Given the description of an element on the screen output the (x, y) to click on. 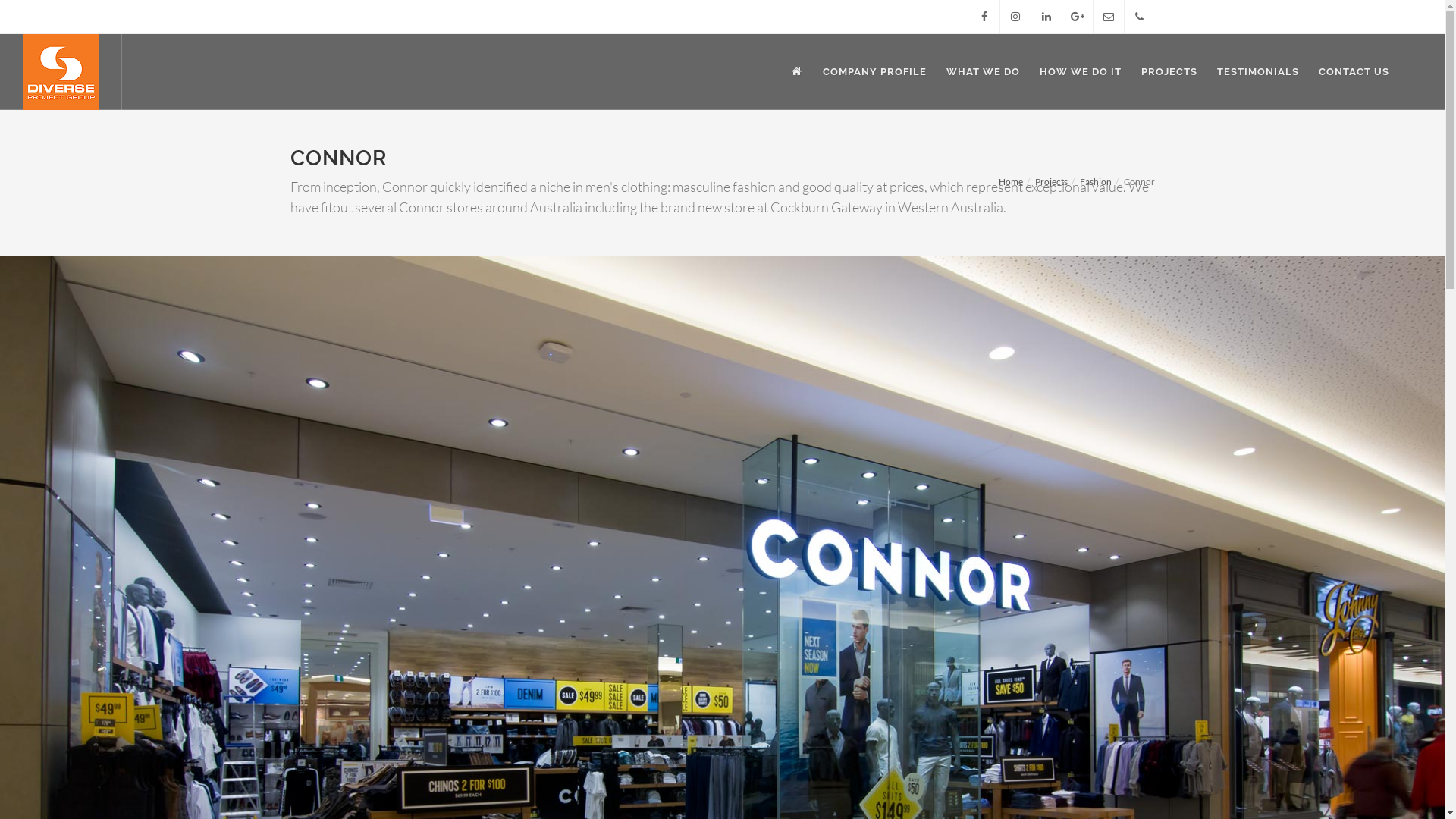
Fashion Element type: text (1095, 181)
TESTIMONIALS Element type: text (1258, 71)
CONTACT US Element type: text (1353, 71)
Home Element type: text (1009, 181)
HOW WE DO IT Element type: text (1080, 71)
PROJECTS Element type: text (1169, 71)
WHAT WE DO Element type: text (983, 71)
Projects Element type: text (1050, 181)
COMPANY PROFILE Element type: text (874, 71)
